Given the description of an element on the screen output the (x, y) to click on. 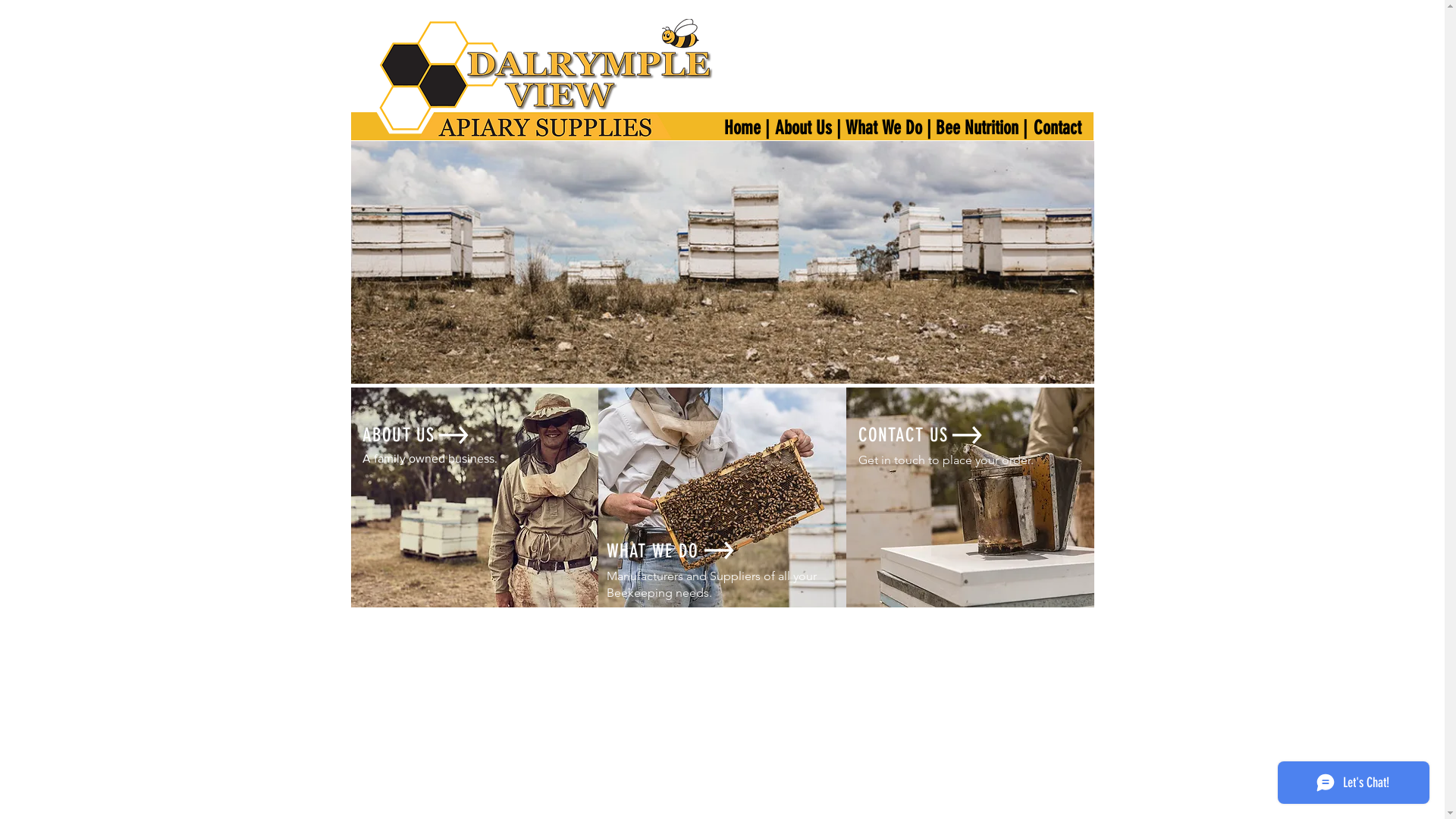
What We Do | Element type: text (887, 127)
Embedded Content Element type: hover (696, 310)
Bee Nutrition | Element type: text (981, 127)
WHAT WE DO Element type: text (652, 550)
ABOUT US Element type: text (398, 434)
CONTACT US Element type: text (903, 434)
Contact Element type: text (1057, 127)
Home | Element type: text (746, 127)
About Us | Element type: text (807, 127)
